Given the description of an element on the screen output the (x, y) to click on. 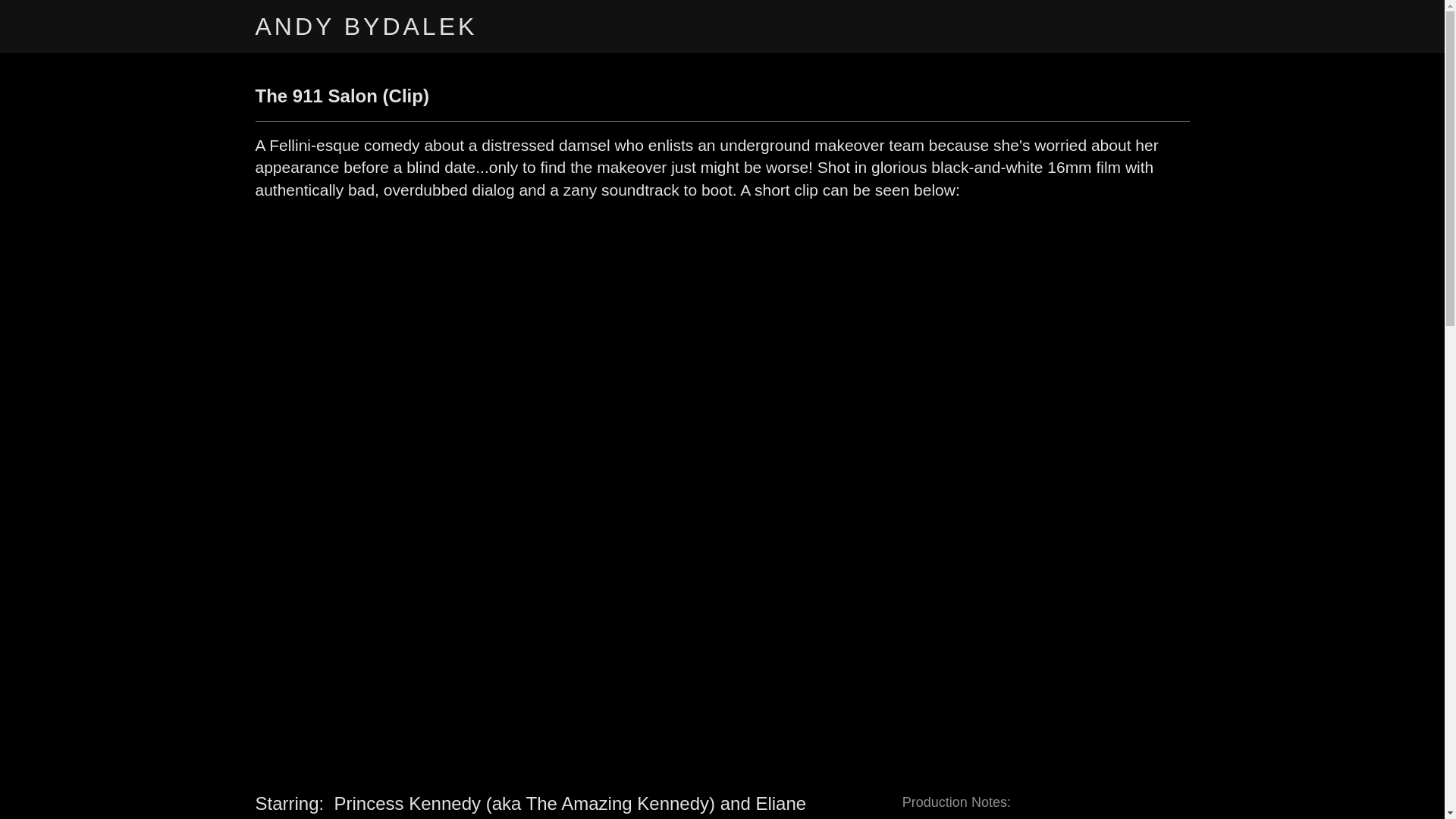
ANDY BYDALEK (417, 29)
ANDY BYDALEK (417, 29)
